Given the description of an element on the screen output the (x, y) to click on. 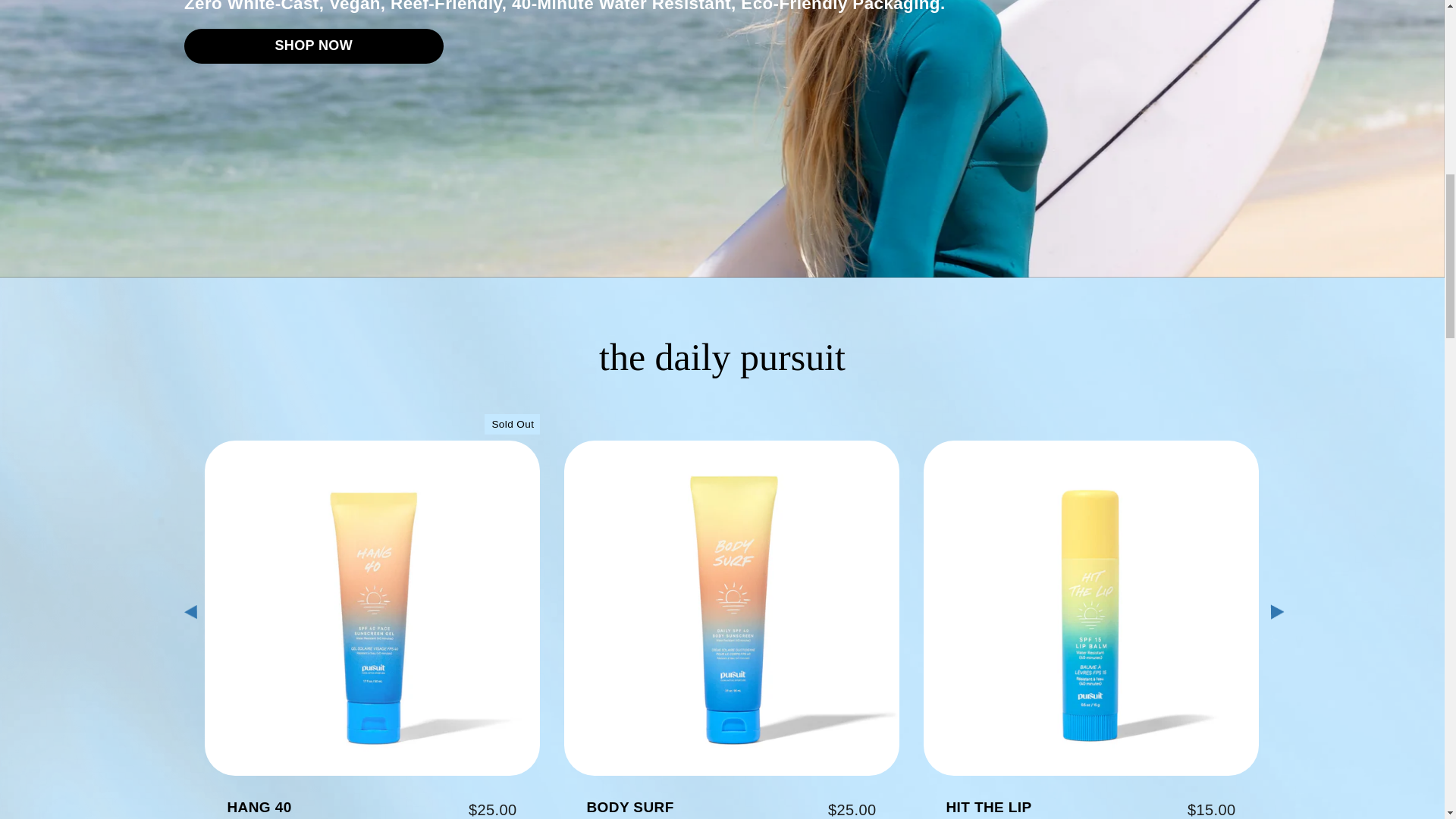
Previous (190, 611)
SHOP NOW (313, 45)
